Given the description of an element on the screen output the (x, y) to click on. 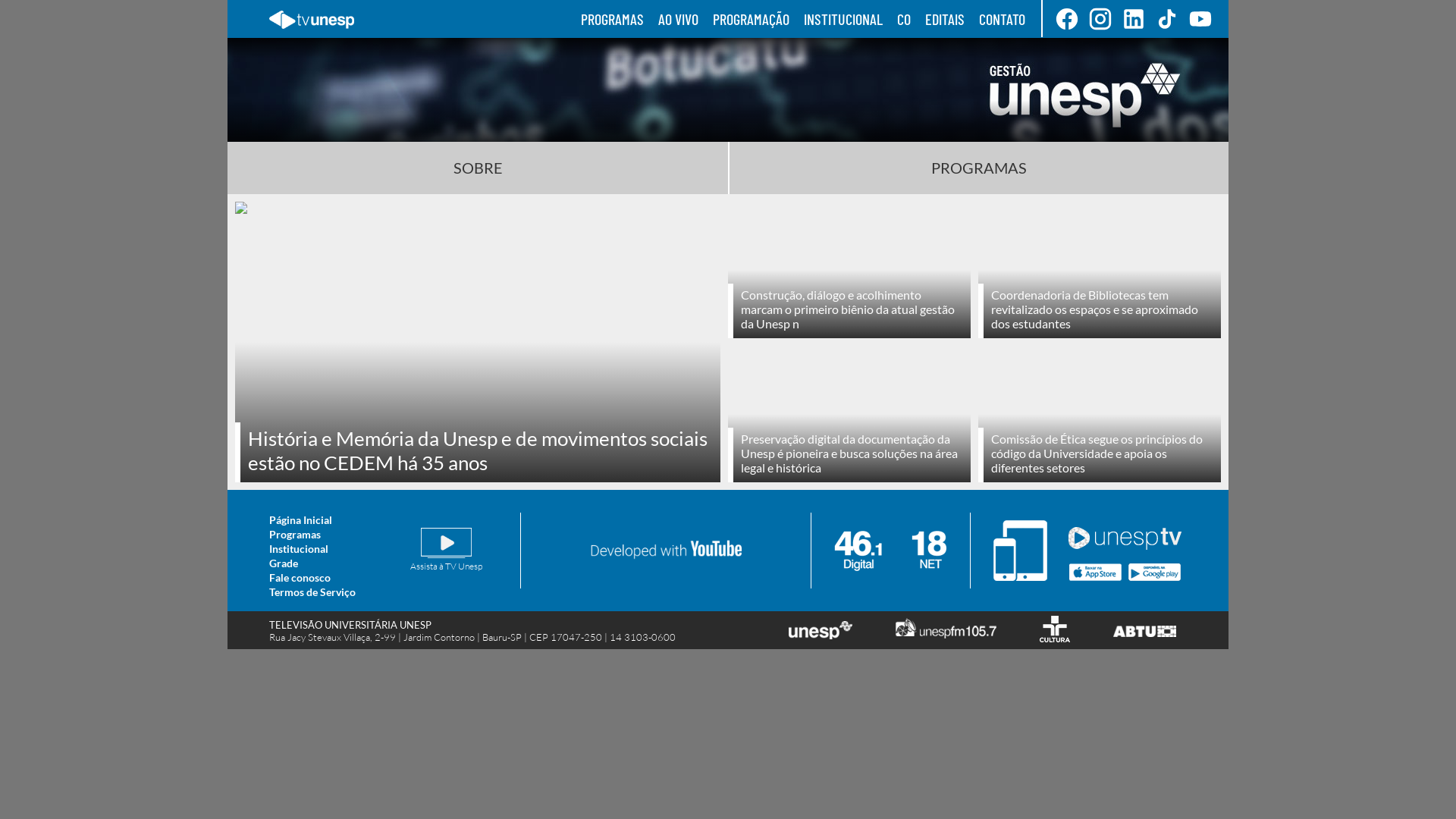
AO VIVO Element type: text (678, 18)
CONTATO Element type: text (1002, 18)
Grade Element type: text (283, 562)
EDITAIS Element type: text (944, 18)
CO Element type: text (903, 18)
INSTITUCIONAL Element type: text (842, 18)
Fale conosco Element type: text (299, 577)
SOBRE Element type: text (477, 167)
PROGRAMAS Element type: text (978, 167)
PROGRAMAS Element type: text (611, 18)
Programas Element type: text (294, 533)
Institucional Element type: text (298, 548)
